Given the description of an element on the screen output the (x, y) to click on. 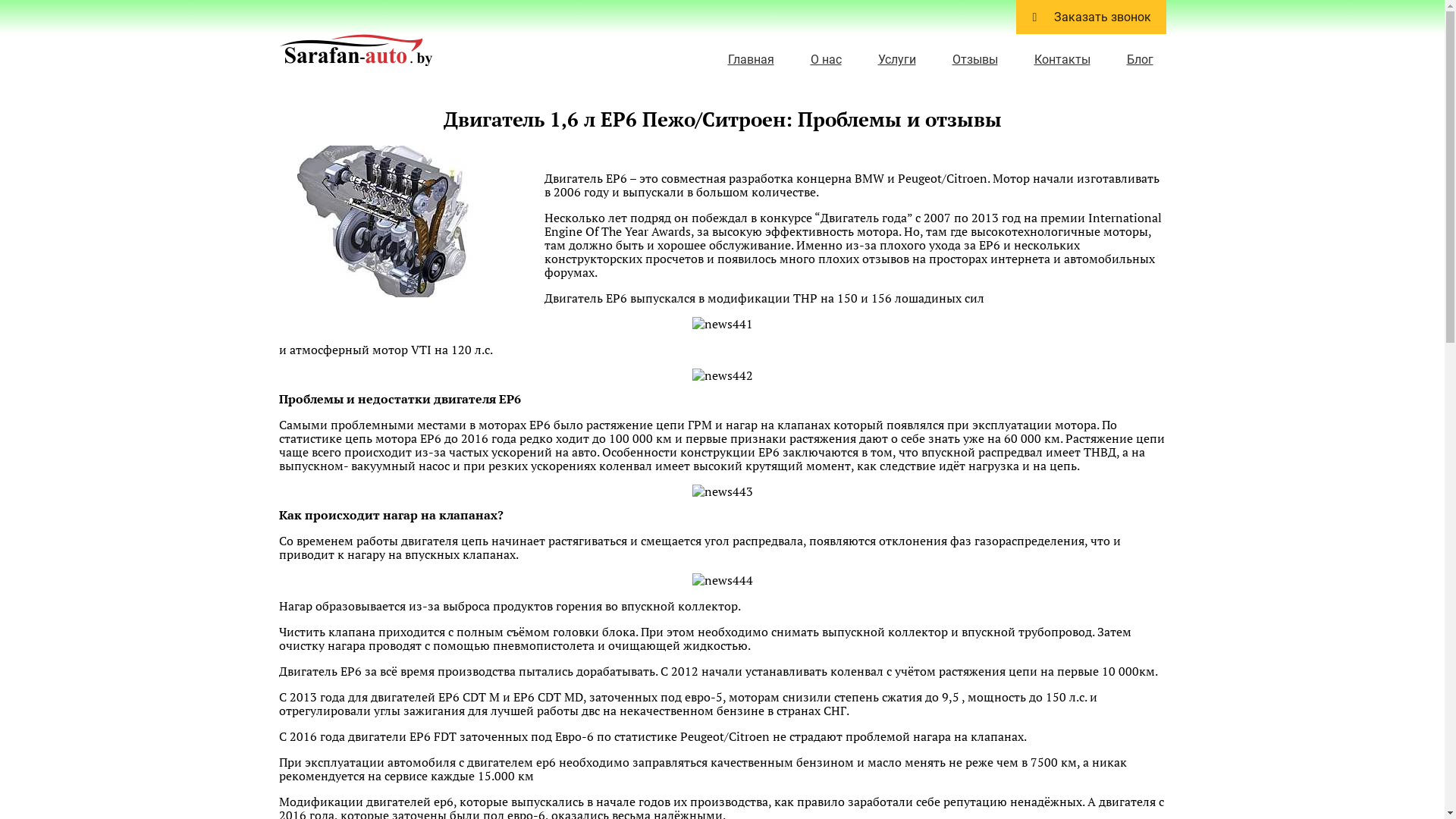
ep6 Element type: hover (392, 221)
